Given the description of an element on the screen output the (x, y) to click on. 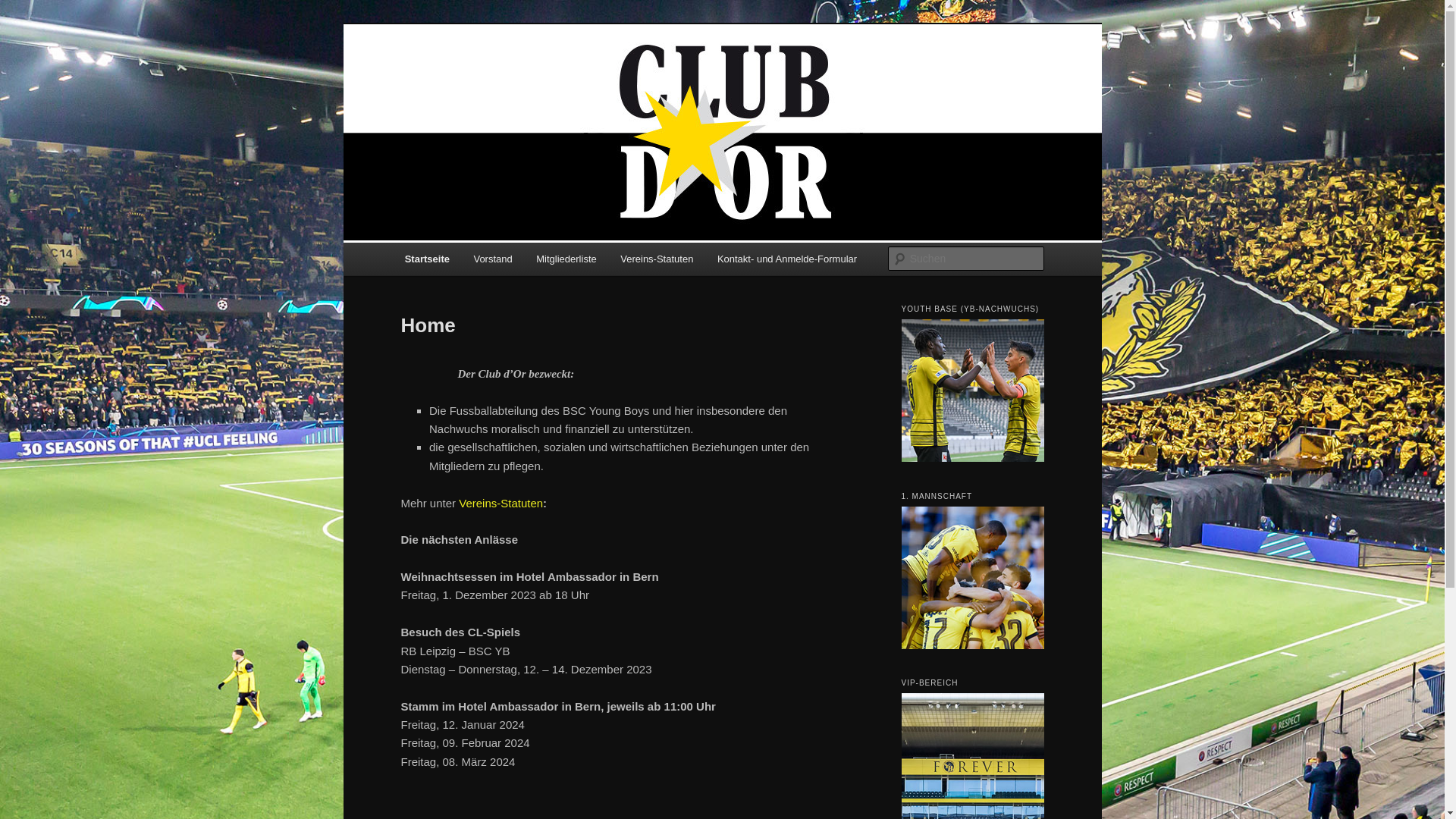
Kontakt- und Anmelde-Formular Element type: text (787, 258)
Suchen Element type: text (25, 8)
Vereins-Statuten Element type: text (500, 501)
Mitgliederliste Element type: text (566, 258)
Club d'Or Element type: text (451, 78)
Vorstand Element type: text (492, 258)
Vereins-Statuten Element type: text (656, 258)
Startseite Element type: text (426, 258)
Zum Inhalt wechseln Element type: text (22, 22)
